Given the description of an element on the screen output the (x, y) to click on. 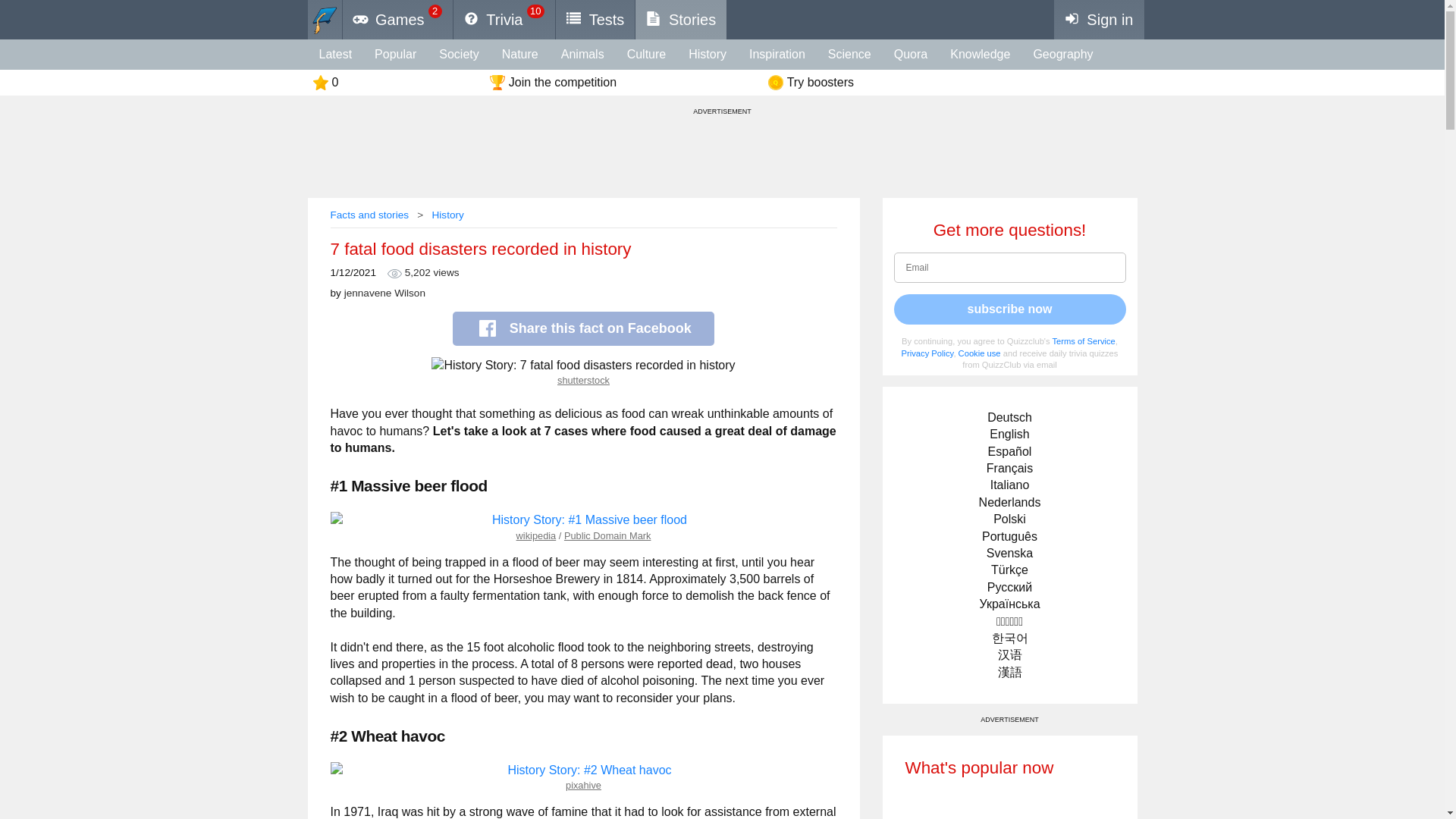
Stories (680, 19)
Sign in (1099, 19)
Science (849, 54)
History Story: 7 fatal food disasters recorded in history (582, 365)
Inspiration (777, 54)
Trivia 10 (504, 19)
Society (458, 54)
Geography (1062, 54)
Games 2 (398, 19)
Nature (520, 54)
